Given the description of an element on the screen output the (x, y) to click on. 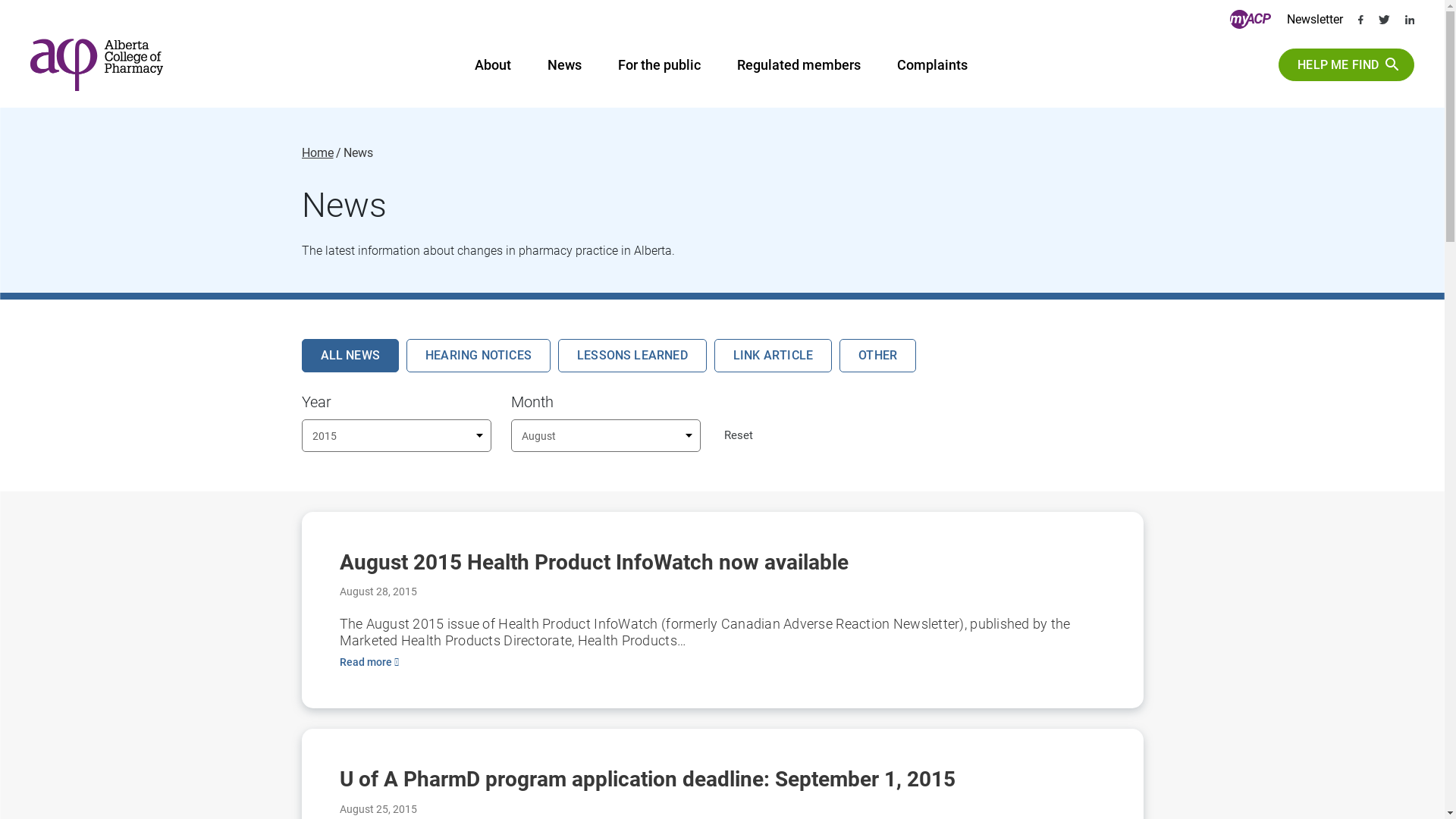
Regulated members Element type: text (798, 67)
LINK ARTICLE Element type: text (772, 354)
Newsletter Element type: text (1314, 19)
News Element type: text (564, 67)
Complaints Element type: text (932, 67)
Home Element type: text (317, 152)
About Element type: text (492, 67)
Reset Element type: text (738, 435)
HEARING NOTICES Element type: text (478, 354)
OTHER Element type: text (877, 354)
LESSONS LEARNED Element type: text (632, 354)
For the public Element type: text (659, 67)
ALL NEWS Element type: text (350, 354)
